Given the description of an element on the screen output the (x, y) to click on. 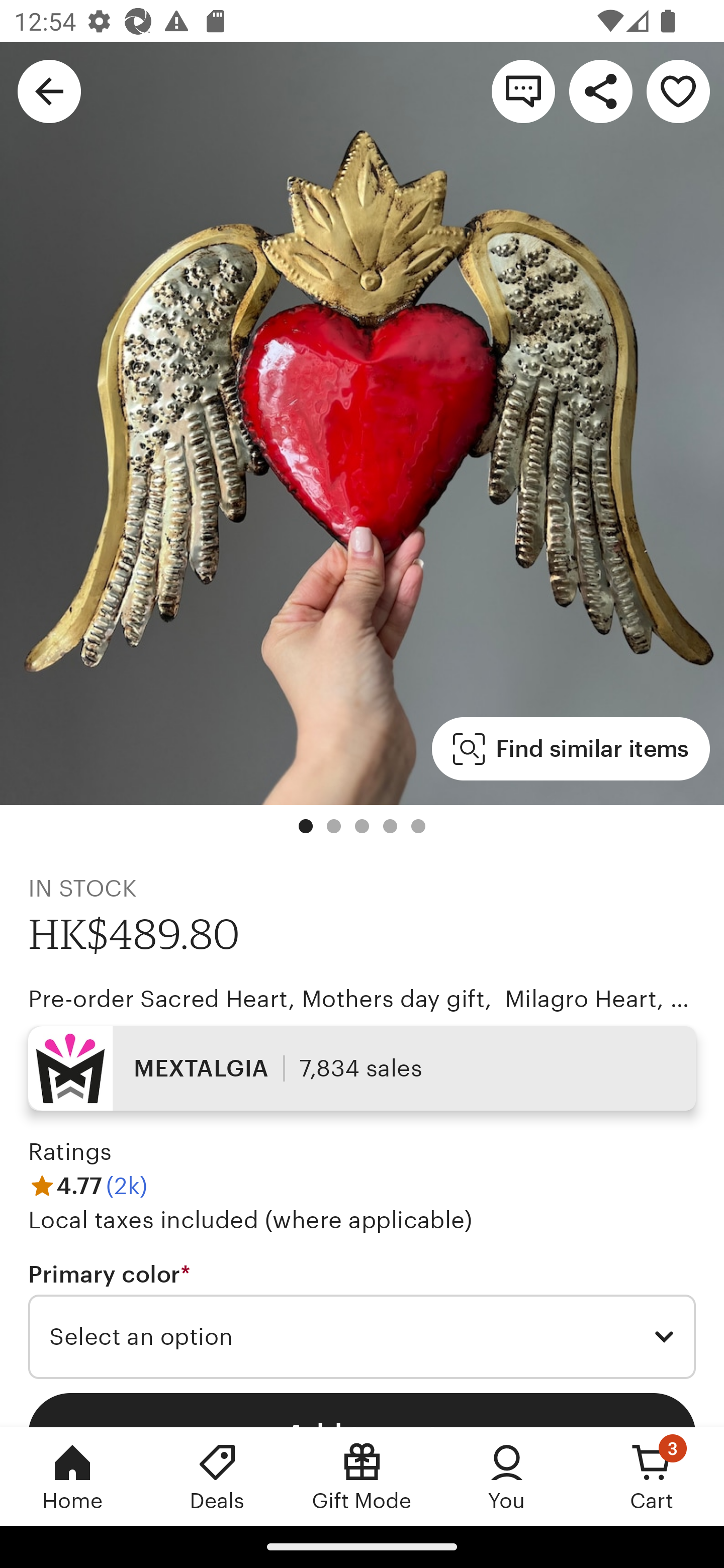
Navigate up (49, 90)
Contact shop (523, 90)
Share (600, 90)
Find similar items (571, 748)
MEXTALGIA 7,834 sales (361, 1067)
Ratings (70, 1151)
4.77 (2k) (87, 1185)
Primary color * Required Select an option (361, 1319)
Select an option (361, 1336)
Deals (216, 1475)
Gift Mode (361, 1475)
You (506, 1475)
Cart, 3 new notifications Cart (651, 1475)
